Given the description of an element on the screen output the (x, y) to click on. 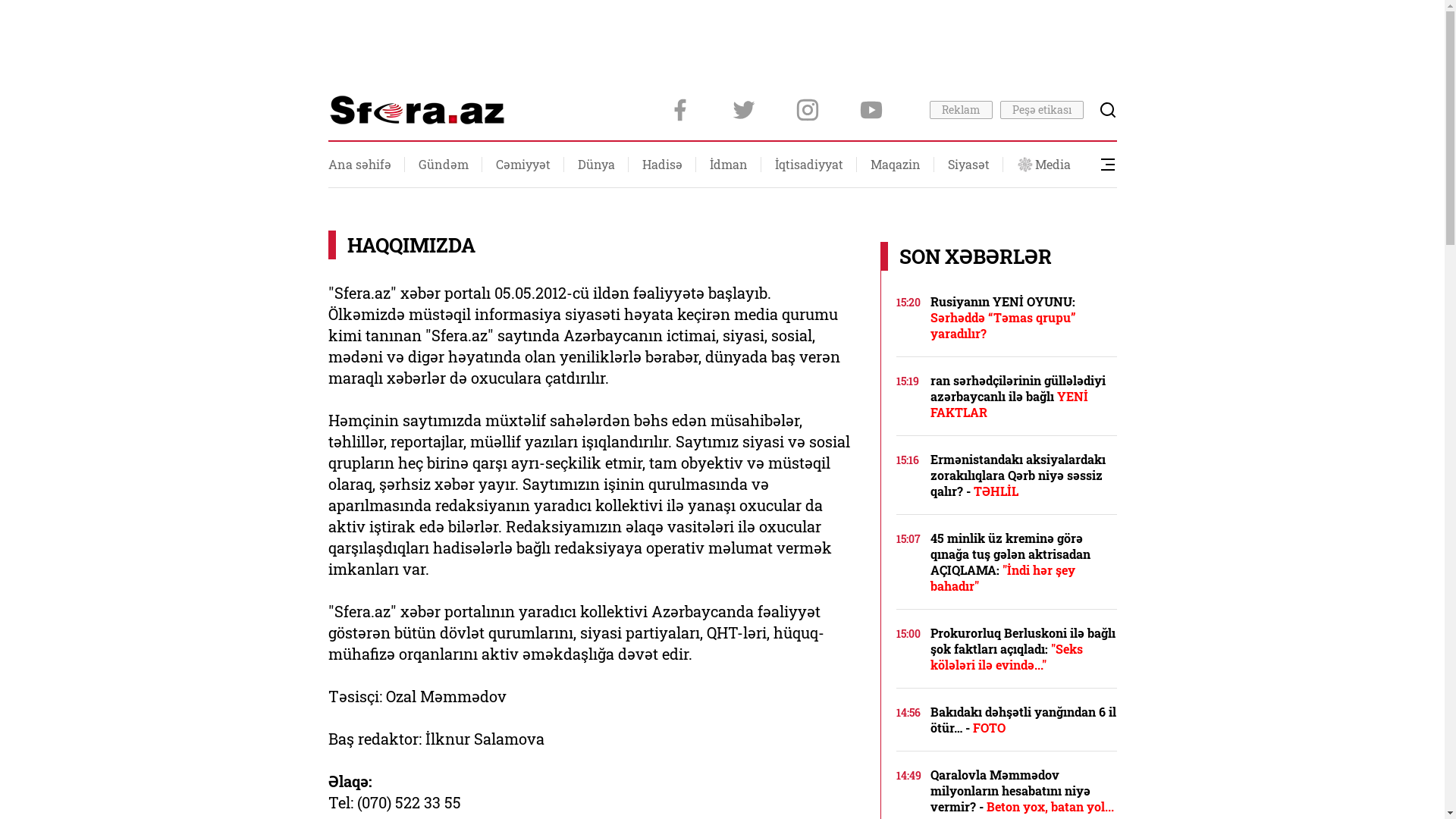
Maqazin Element type: text (895, 164)
Media Element type: text (1042, 164)
Reklam Element type: text (960, 109)
